Given the description of an element on the screen output the (x, y) to click on. 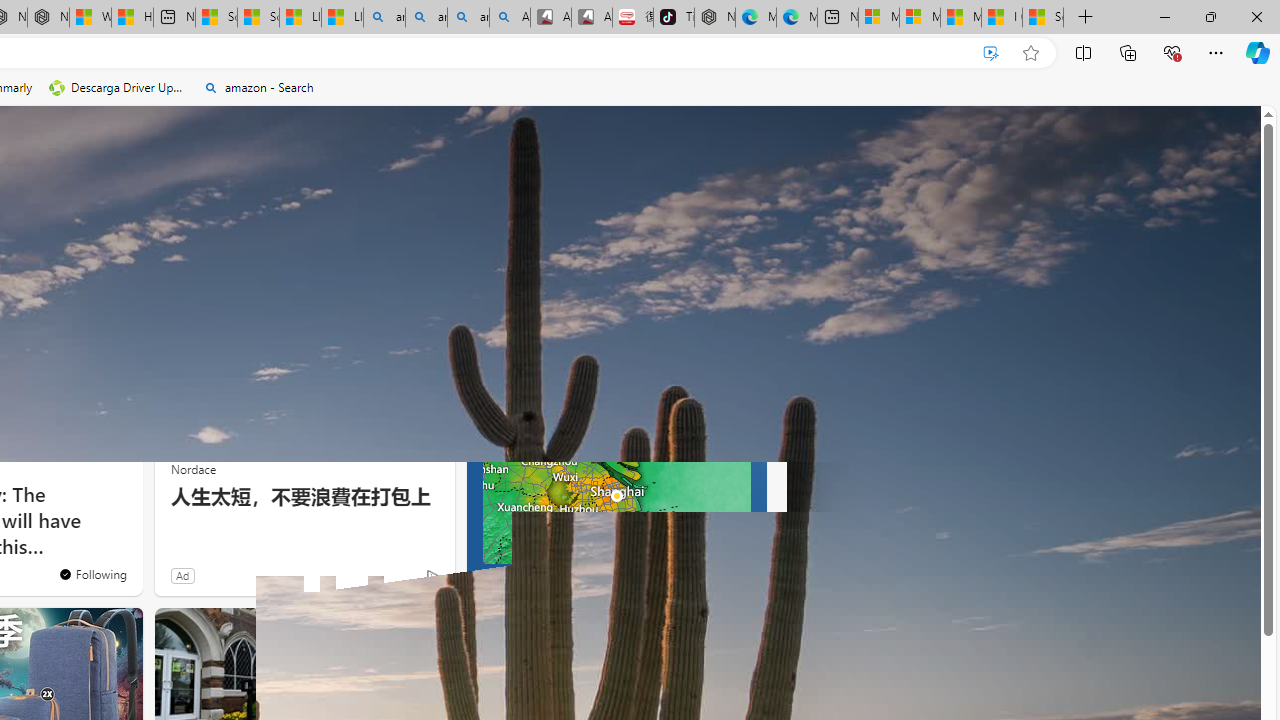
Minimize (1164, 16)
More options (736, 631)
New tab (837, 17)
You're following The Weather Channel (390, 579)
Real Estate (290, 267)
I Gained 20 Pounds of Muscle in 30 Days! | Watch (1001, 17)
Autos (215, 265)
Huge shark washes ashore at New York City beach | Watch (132, 17)
Map (630, 411)
New Tab (1085, 17)
hotels-header-icon (490, 632)
tab-0 (488, 579)
Add this page to favorites (Ctrl+D) (1030, 53)
